Given the description of an element on the screen output the (x, y) to click on. 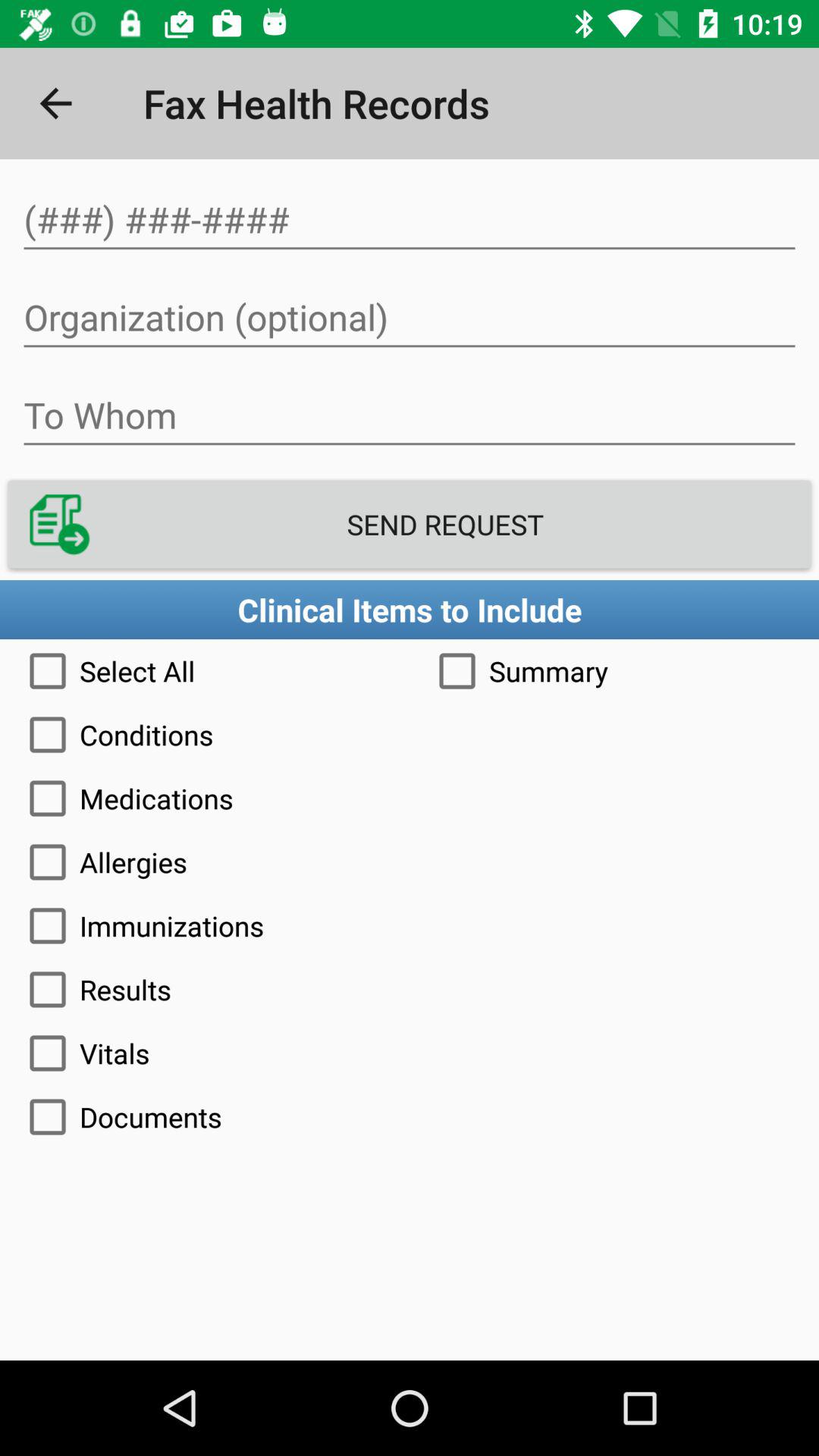
tap summary item (614, 670)
